Given the description of an element on the screen output the (x, y) to click on. 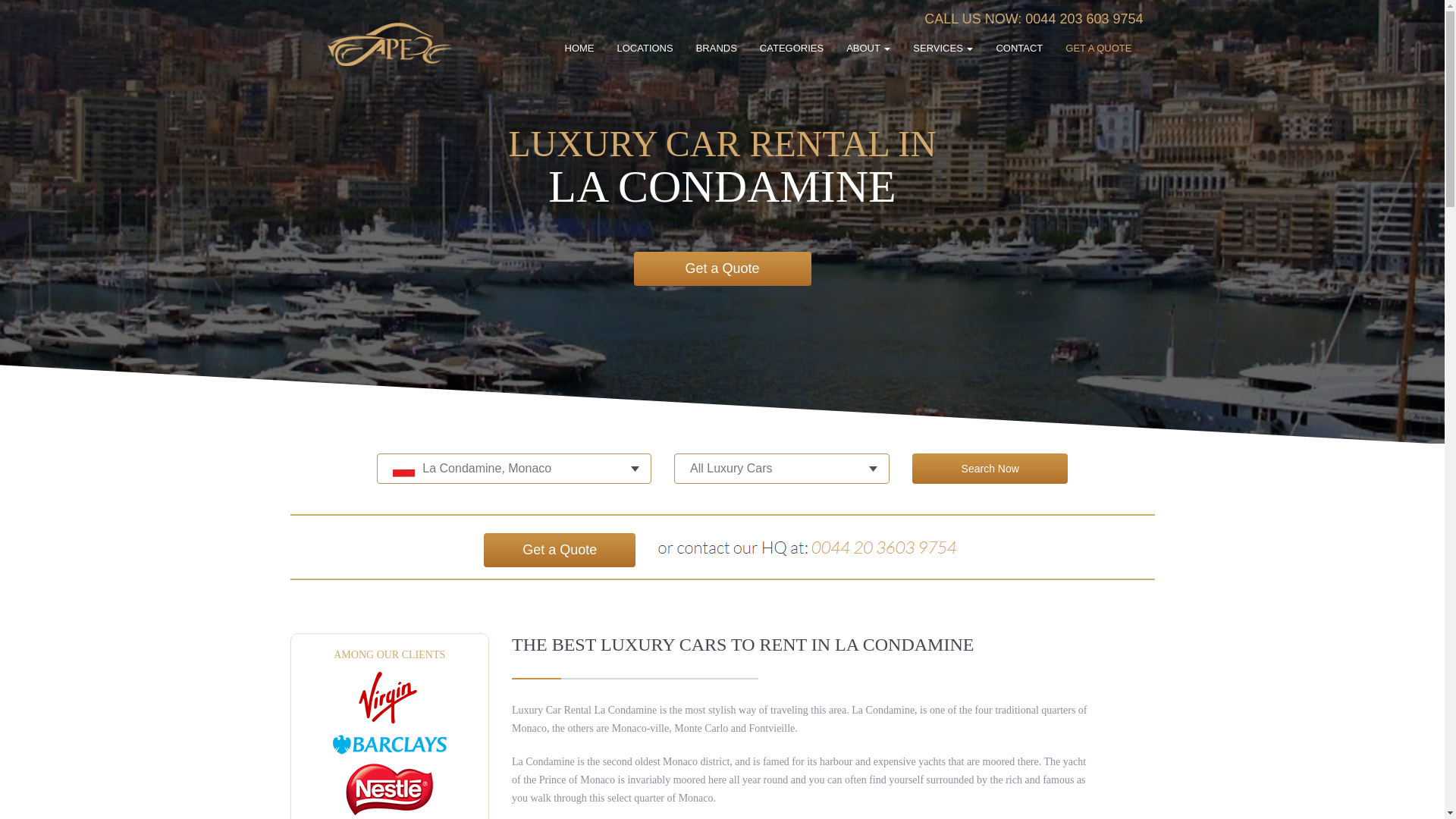
BRANDS (715, 48)
HOME (579, 48)
CALL US NOW: 0044 203 603 9754 (1033, 18)
SERVICES (942, 48)
Get a Quote (558, 550)
CATEGORIES (792, 48)
ABOUT (867, 48)
LOCATIONS (644, 48)
Get a Quote (721, 268)
Search Now (990, 468)
GET A QUOTE (1098, 48)
CONTACT (1018, 48)
